Given the description of an element on the screen output the (x, y) to click on. 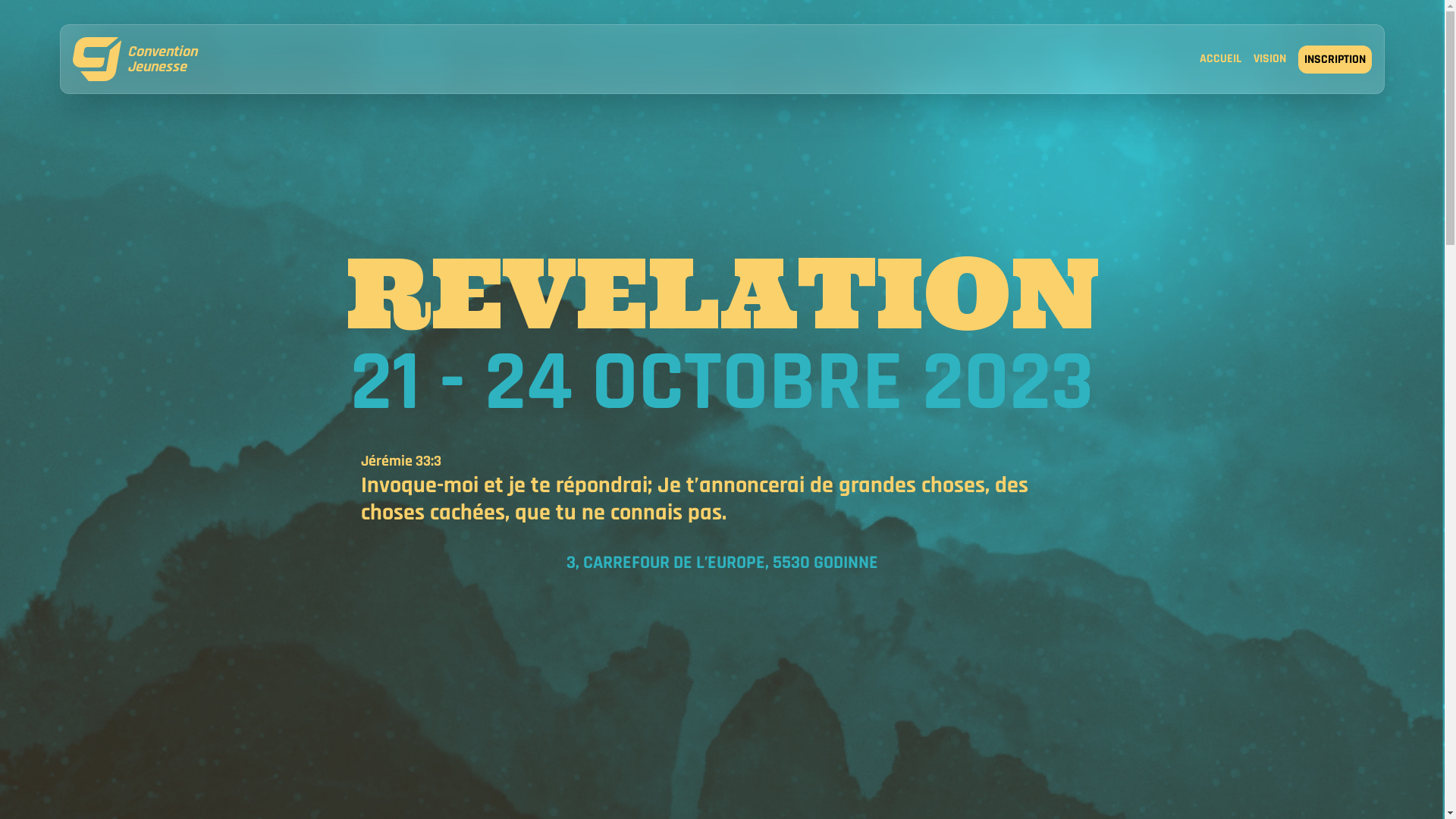
Convention
Jeunesse Element type: text (134, 59)
VISION Element type: text (1269, 59)
ACCUEIL Element type: text (1220, 59)
INSCRIPTION Element type: text (1334, 59)
